Given the description of an element on the screen output the (x, y) to click on. 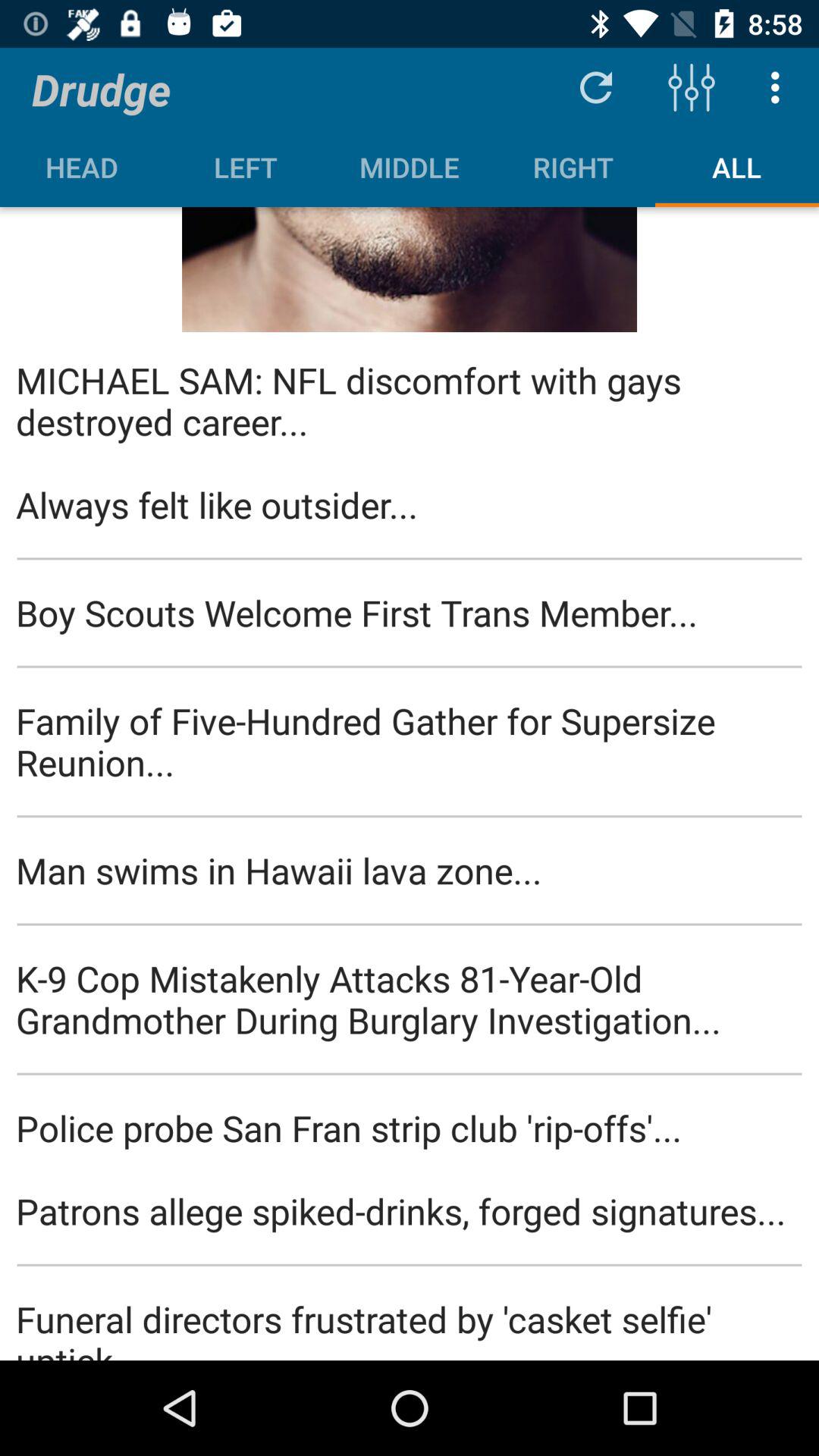
click the icon next to drudge item (595, 87)
